Given the description of an element on the screen output the (x, y) to click on. 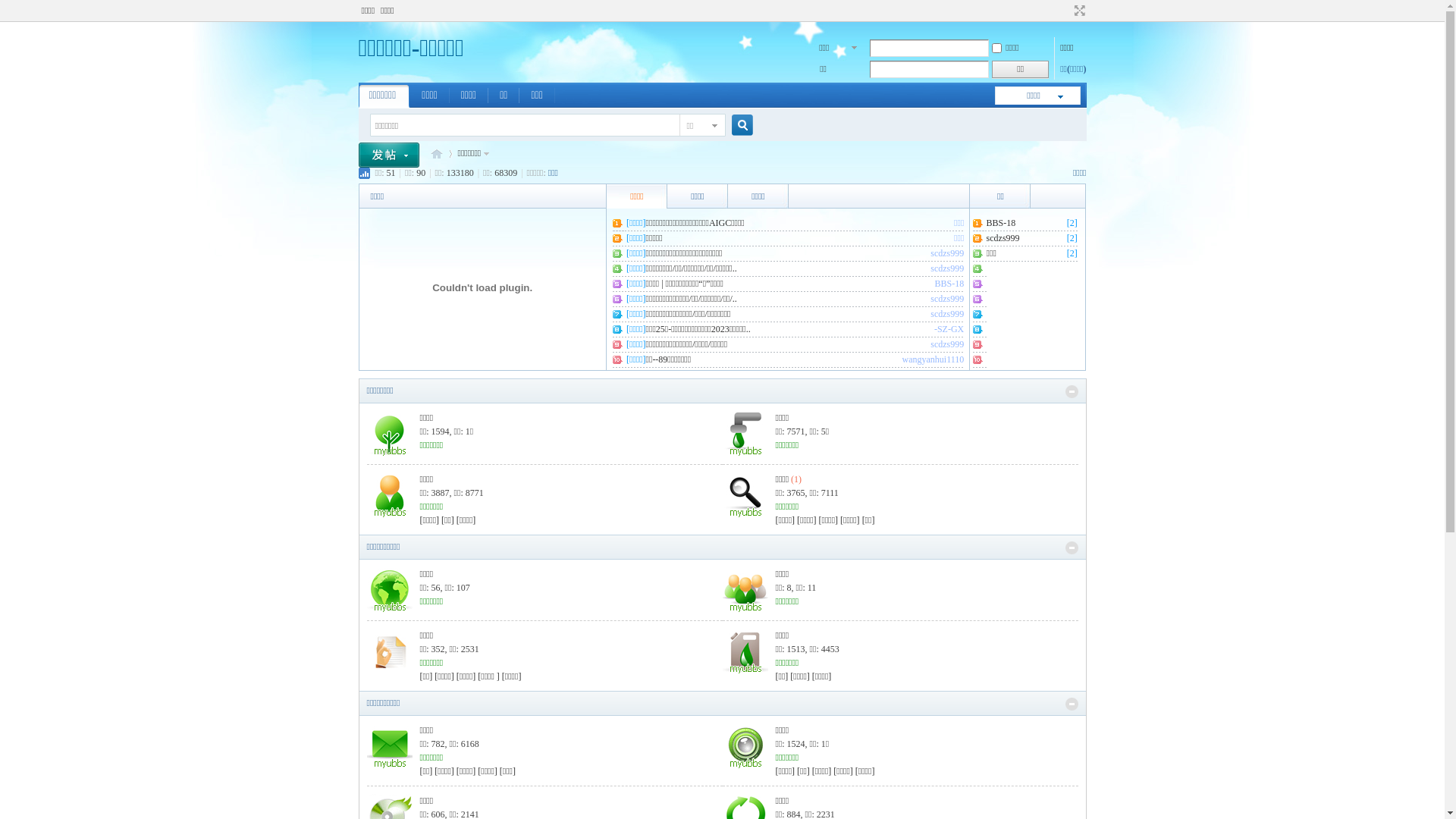
scdzs999 Element type: text (946, 252)
     Element type: text (393, 153)
scdzs999 Element type: text (1002, 237)
-SZ-GX Element type: text (948, 328)
wangyanhui1110 Element type: text (933, 359)
BBS-18 Element type: text (949, 283)
BBS-18 Element type: text (1001, 222)
scdzs999 Element type: text (946, 343)
true Element type: text (735, 125)
scdzs999 Element type: text (946, 298)
scdzs999 Element type: text (946, 313)
scdzs999 Element type: text (946, 268)
